Given the description of an element on the screen output the (x, y) to click on. 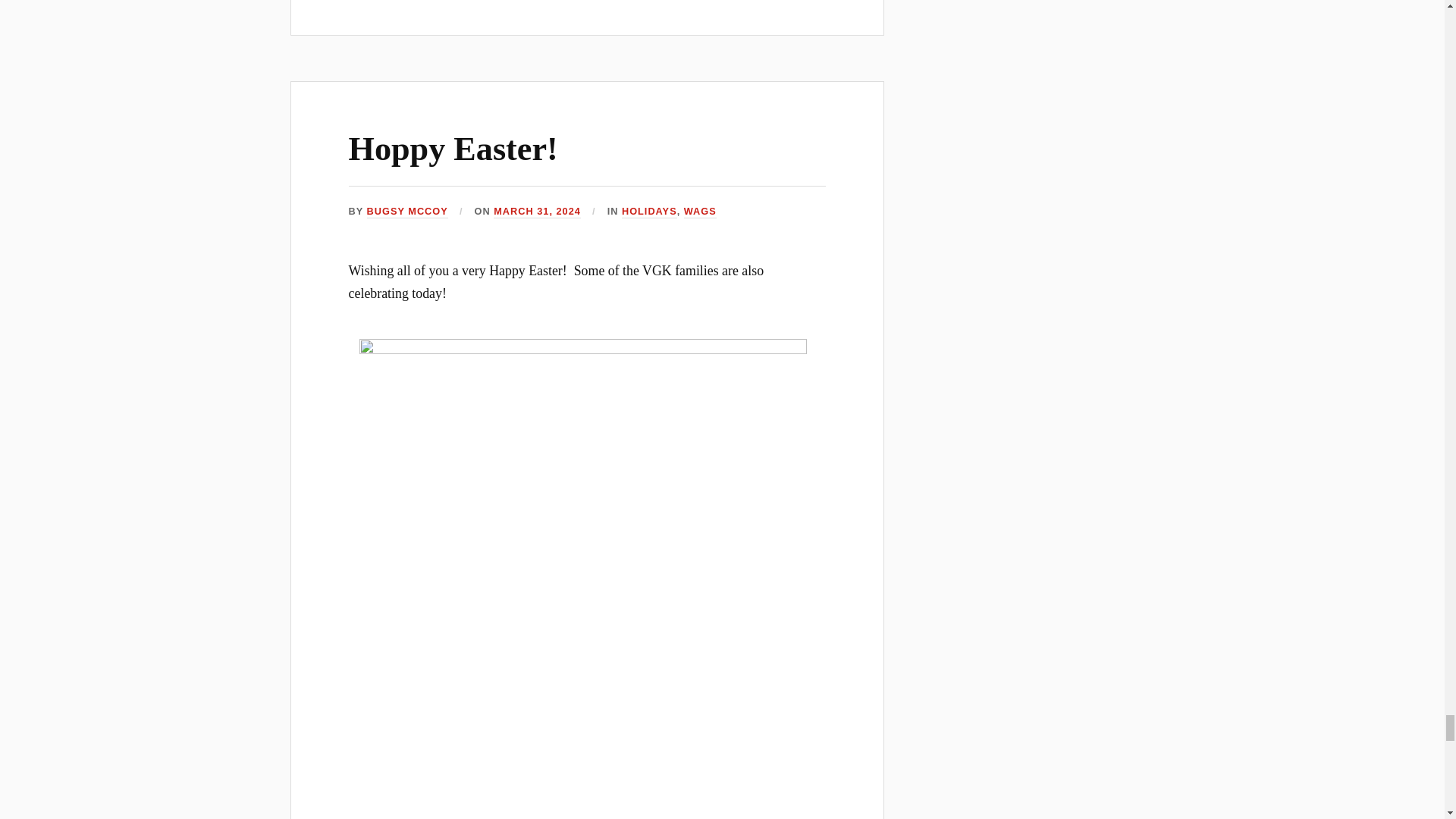
Posts by Bugsy McCoy (407, 211)
